Given the description of an element on the screen output the (x, y) to click on. 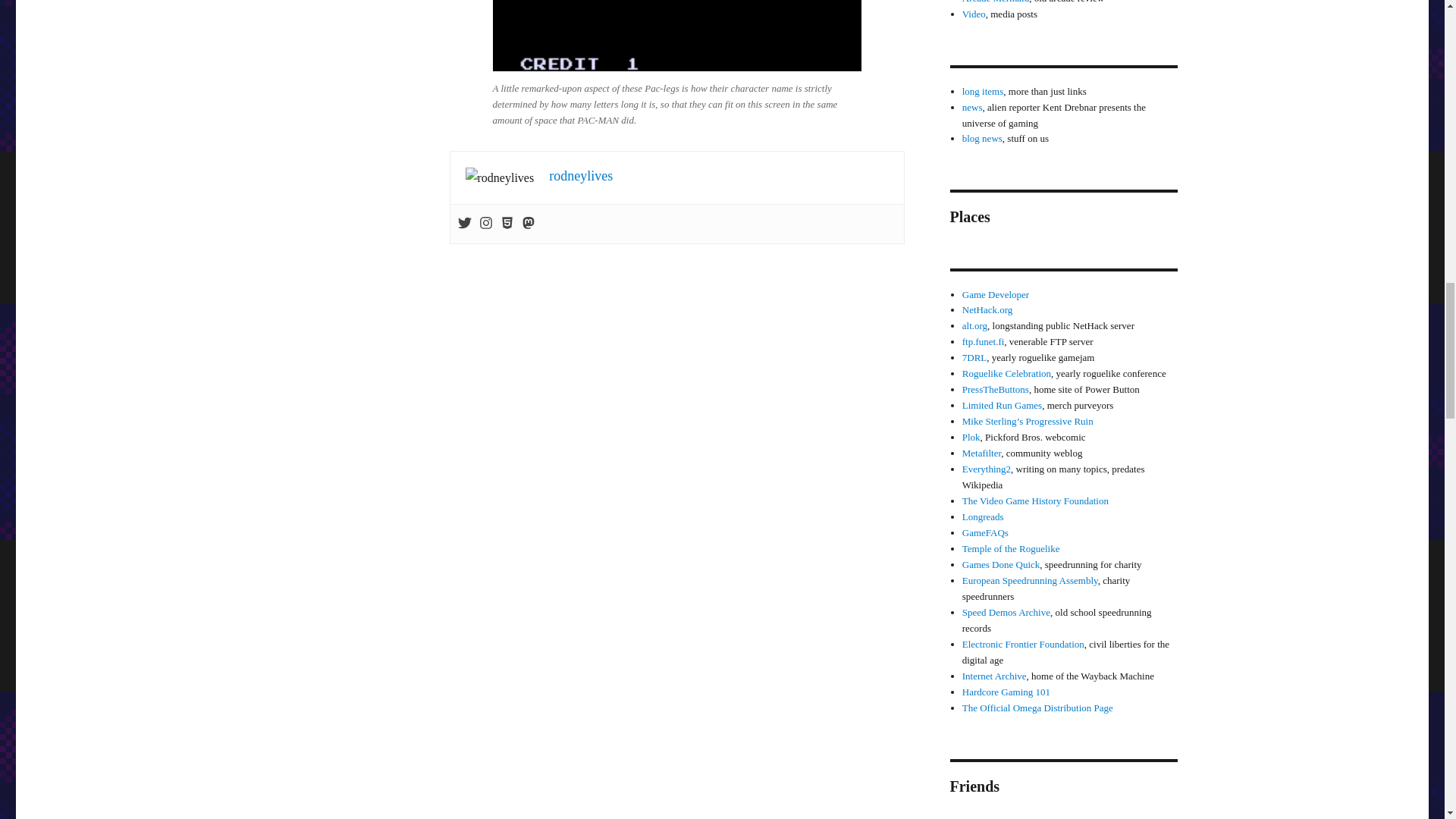
rodneylives (580, 175)
